Given the description of an element on the screen output the (x, y) to click on. 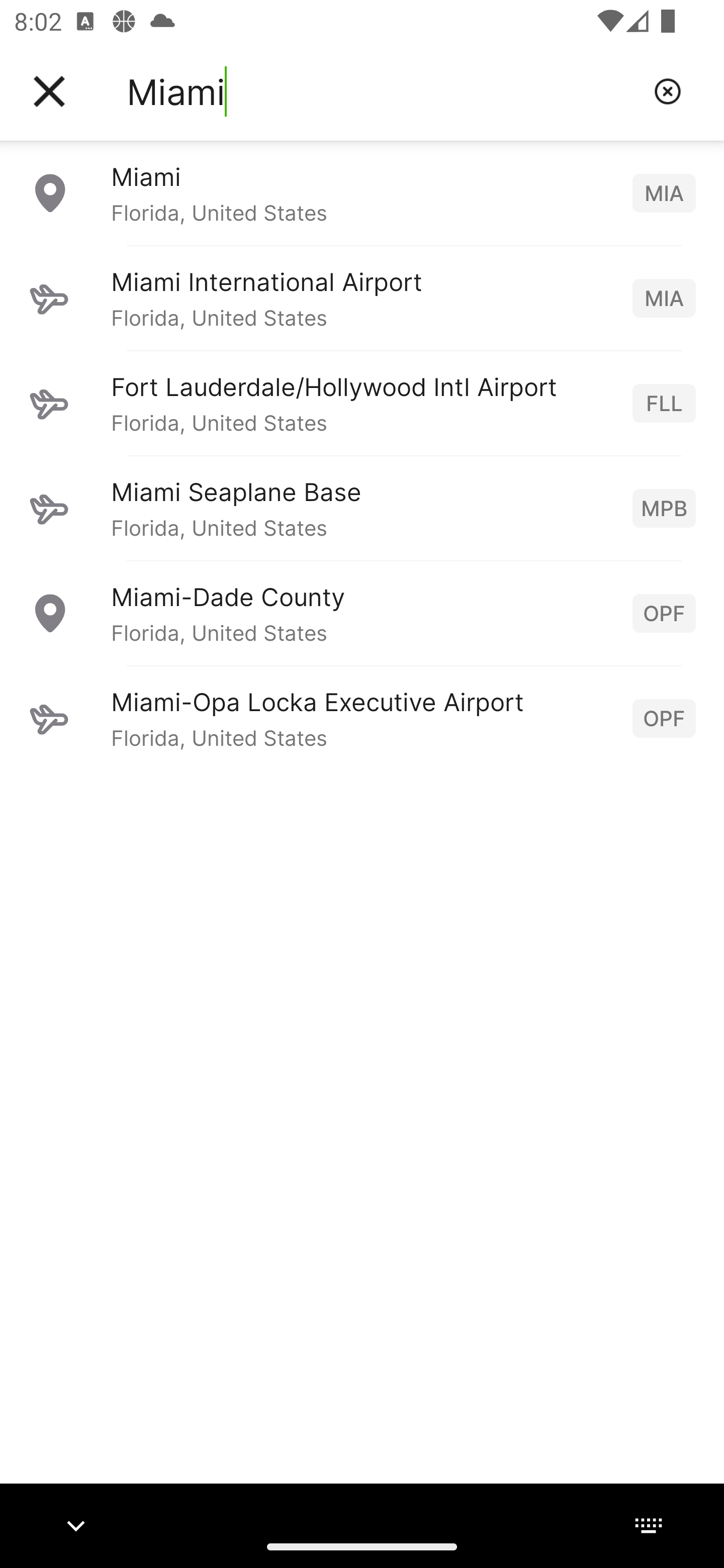
Miami (382, 91)
Miami Florida, United States MIA (362, 192)
Miami Seaplane Base Florida, United States MPB (362, 507)
Miami-Dade County Florida, United States OPF (362, 612)
